Given the description of an element on the screen output the (x, y) to click on. 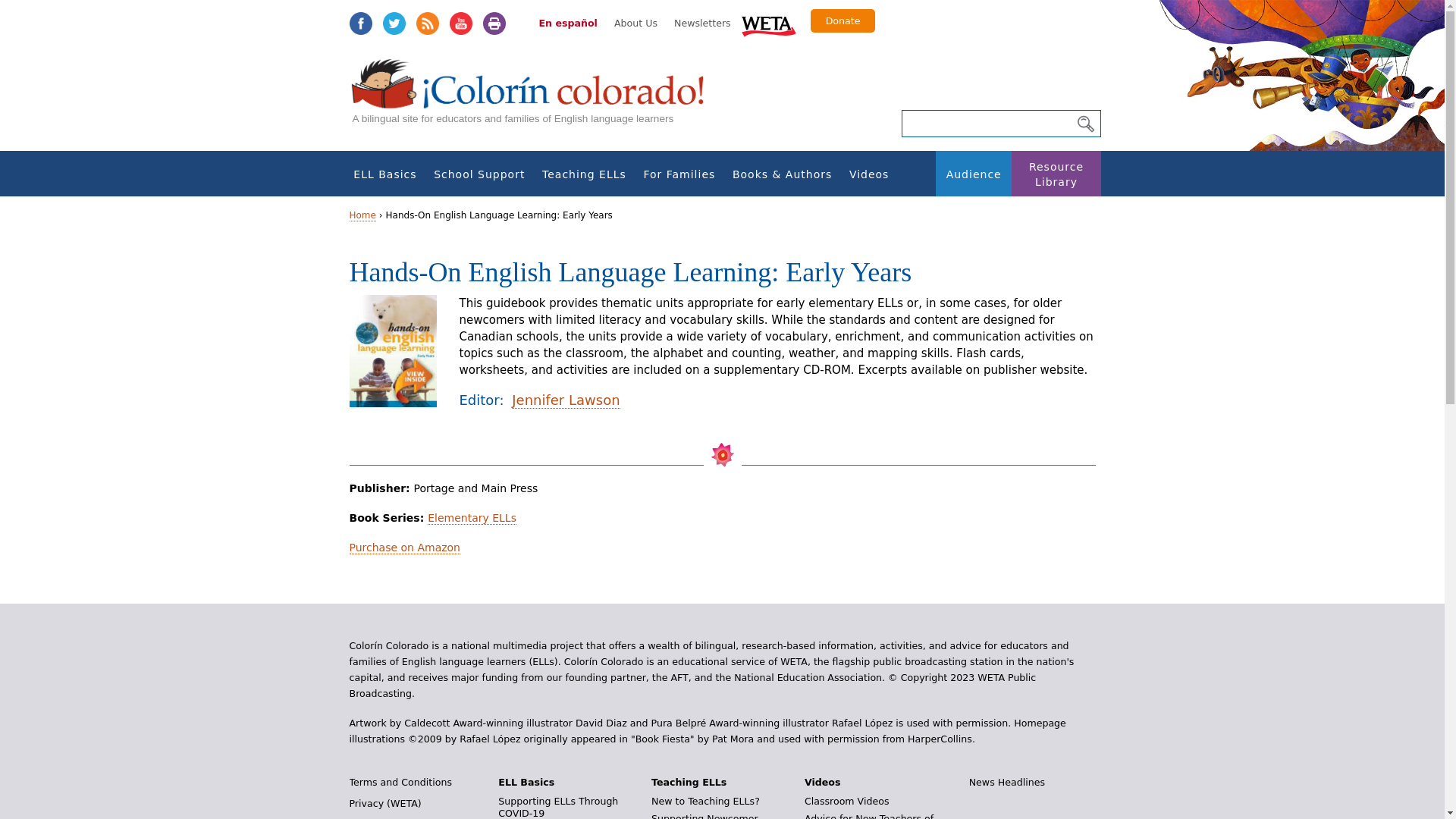
About Us (636, 22)
ELL Basics (384, 174)
Search (1085, 123)
YouTube (459, 23)
Facebook (360, 23)
School Support (479, 174)
Twitter (392, 23)
Newsletters (702, 22)
Donate (843, 20)
